Given the description of an element on the screen output the (x, y) to click on. 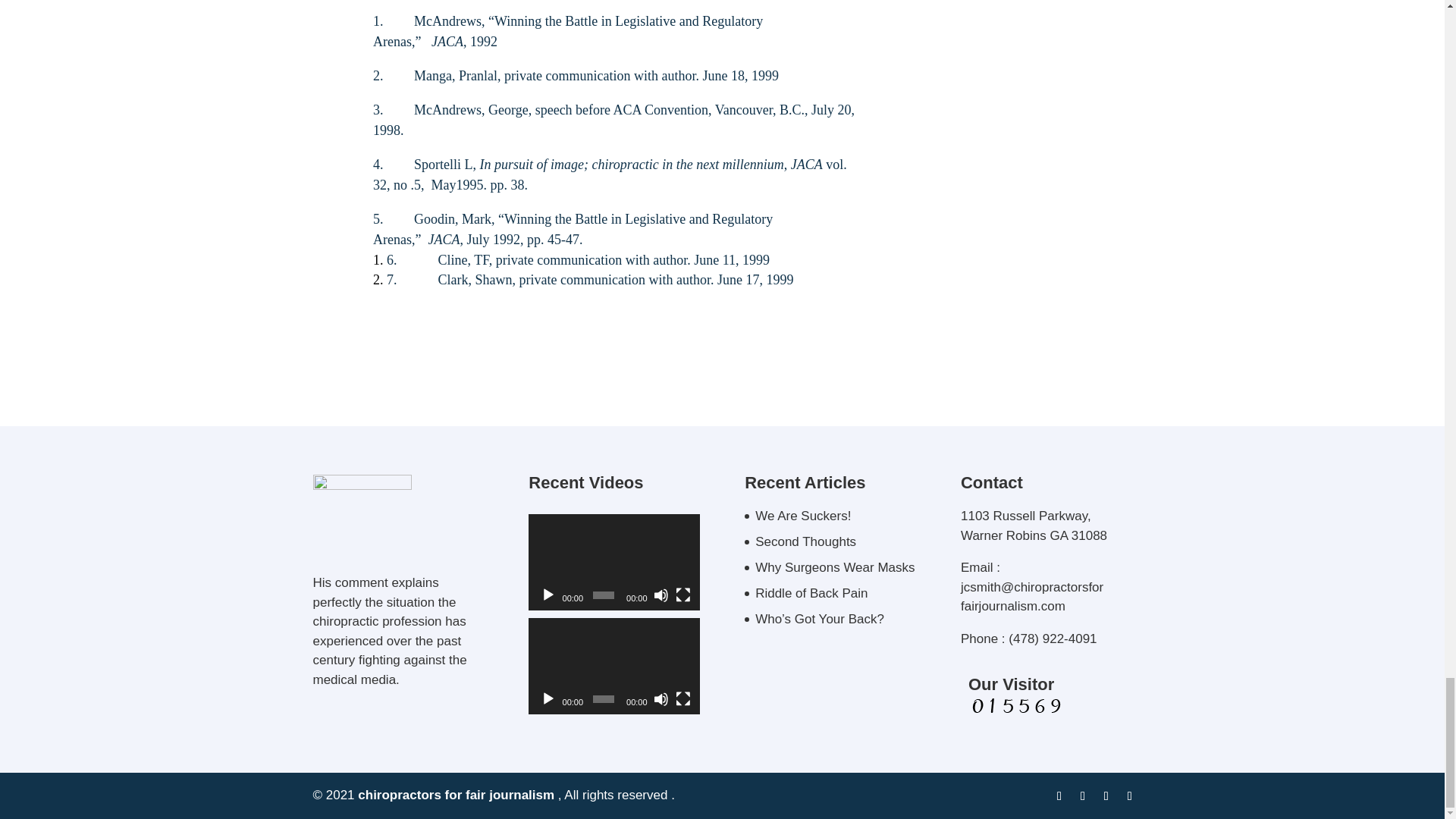
Fullscreen (682, 698)
Mute (660, 595)
Play (548, 698)
chiropractors for fair journalism (456, 794)
We Are Suckers! (802, 515)
Why Surgeons Wear Masks (834, 567)
Play (548, 595)
Fullscreen (682, 595)
Second Thoughts (805, 541)
Mute (660, 698)
